Given the description of an element on the screen output the (x, y) to click on. 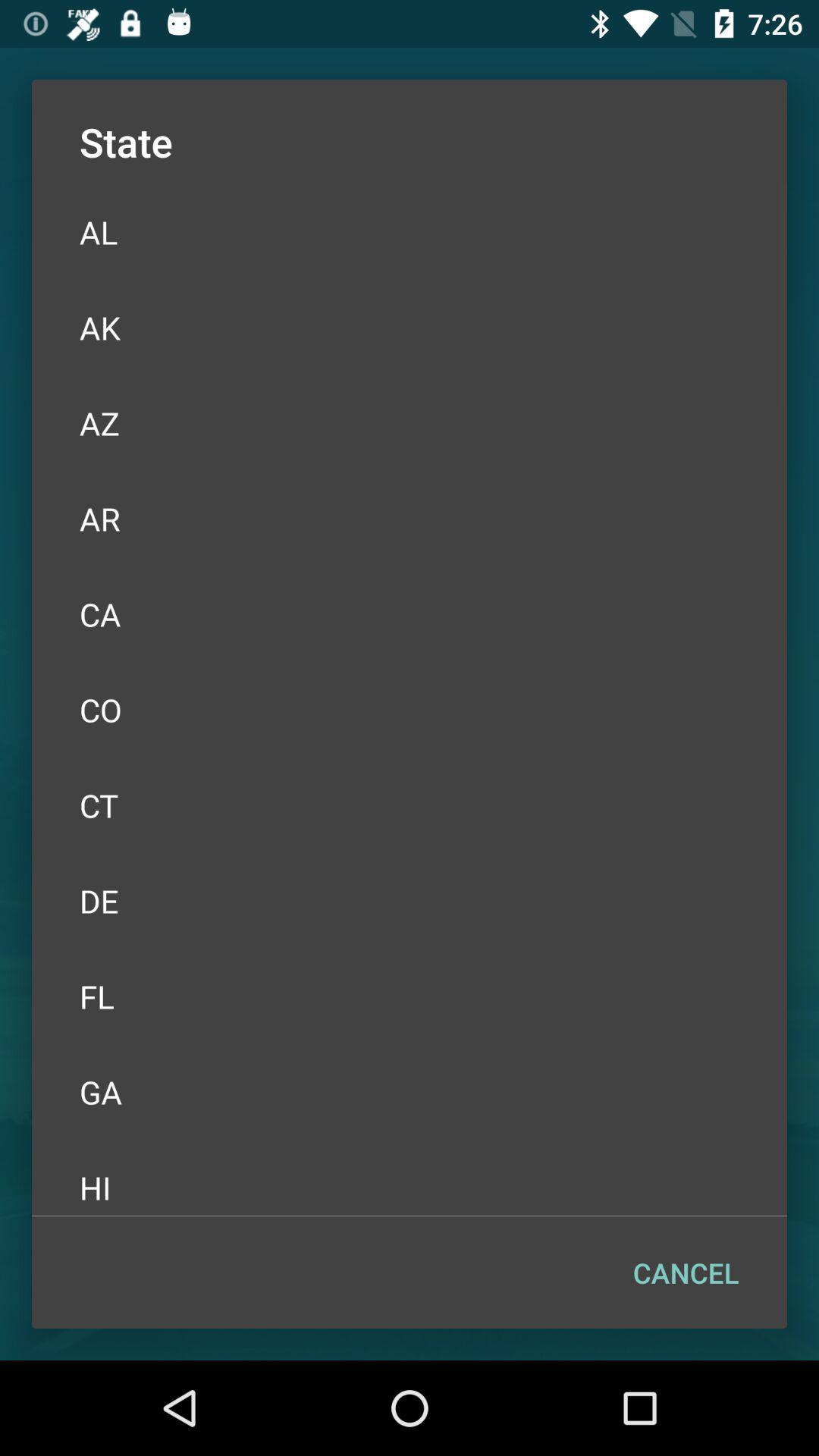
press the item below the ct (409, 900)
